Given the description of an element on the screen output the (x, y) to click on. 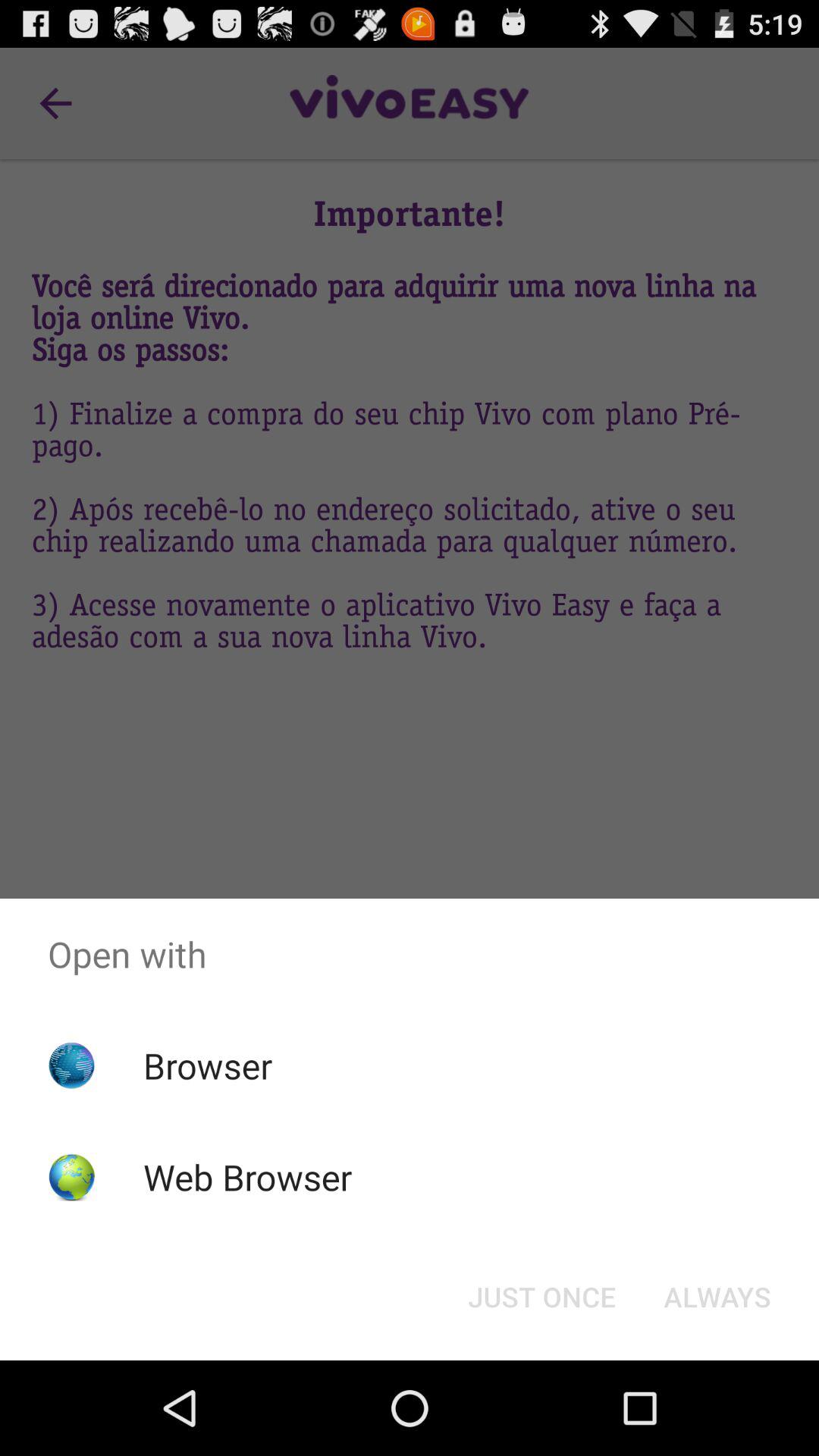
flip to the always (717, 1296)
